Given the description of an element on the screen output the (x, y) to click on. 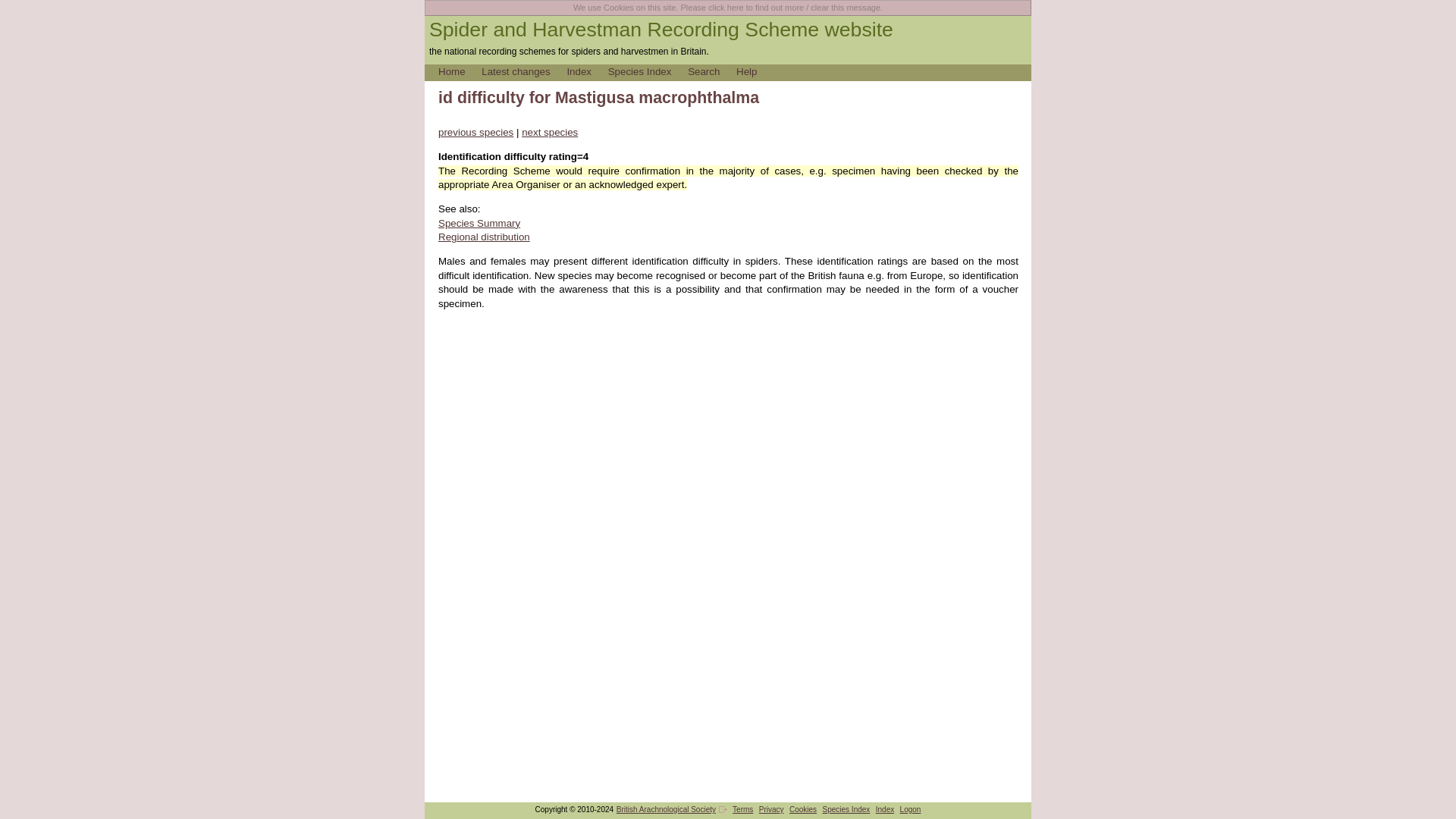
British Arachnological Society (665, 808)
Logon (910, 808)
Index (585, 71)
Regional distribution (483, 236)
previous species (475, 132)
Species Index (646, 71)
Index (884, 808)
Search (710, 71)
next species (549, 132)
this is an offsite link (722, 809)
Help (753, 71)
Cookies (802, 808)
Latest changes (522, 71)
Species Summary (478, 223)
Privacy (771, 808)
